Given the description of an element on the screen output the (x, y) to click on. 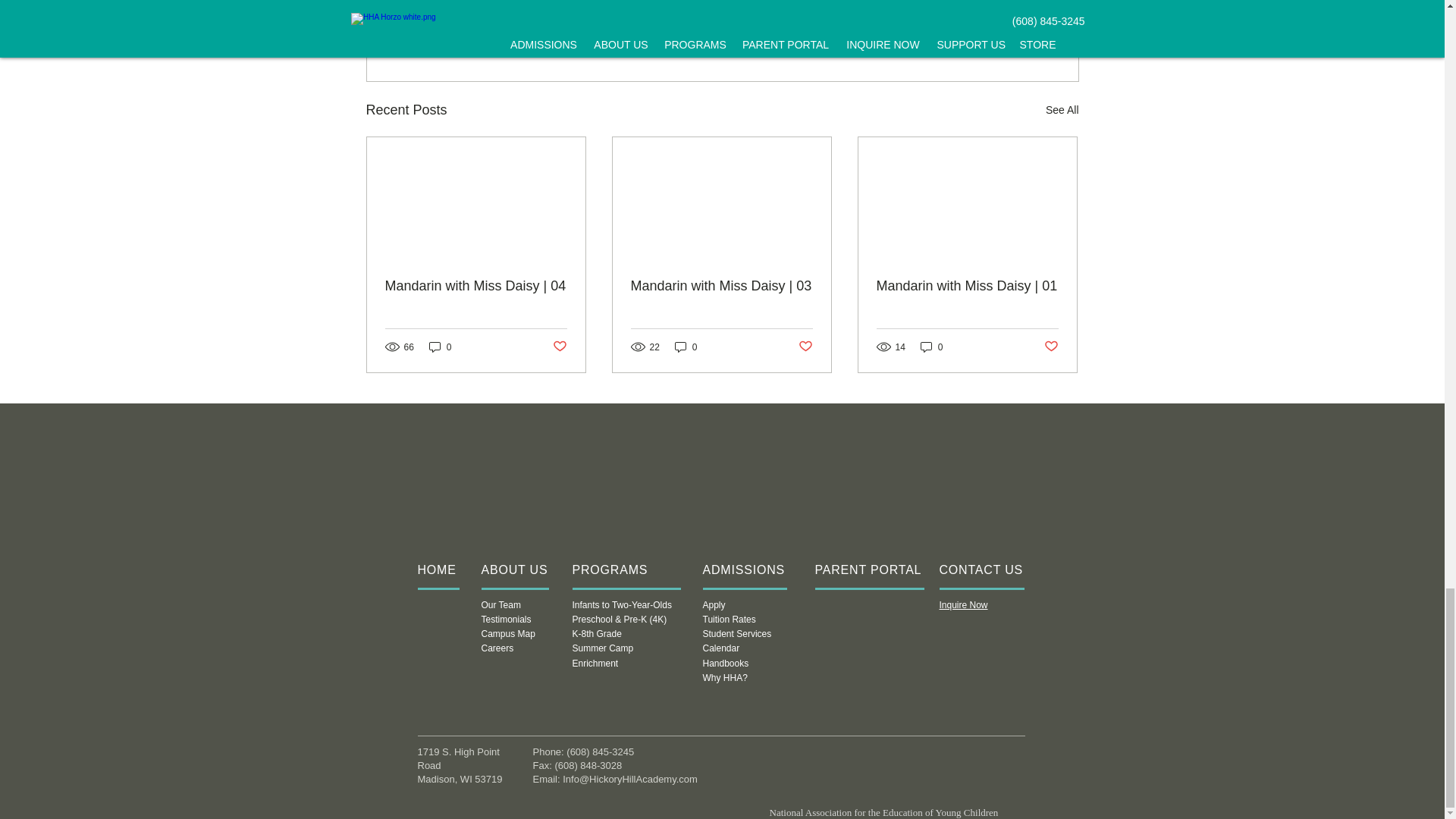
Post not marked as liked (558, 346)
Post not marked as liked (995, 26)
Testimonials (505, 619)
0 (440, 346)
0 (685, 346)
Our Team (499, 604)
See All (1061, 110)
Campus Map (507, 633)
ABOUT US (513, 569)
Post not marked as liked (804, 346)
Careers (496, 647)
Post not marked as liked (1050, 346)
0 (931, 346)
Infants to Two-Year-Olds (621, 604)
HOME (435, 569)
